Given the description of an element on the screen output the (x, y) to click on. 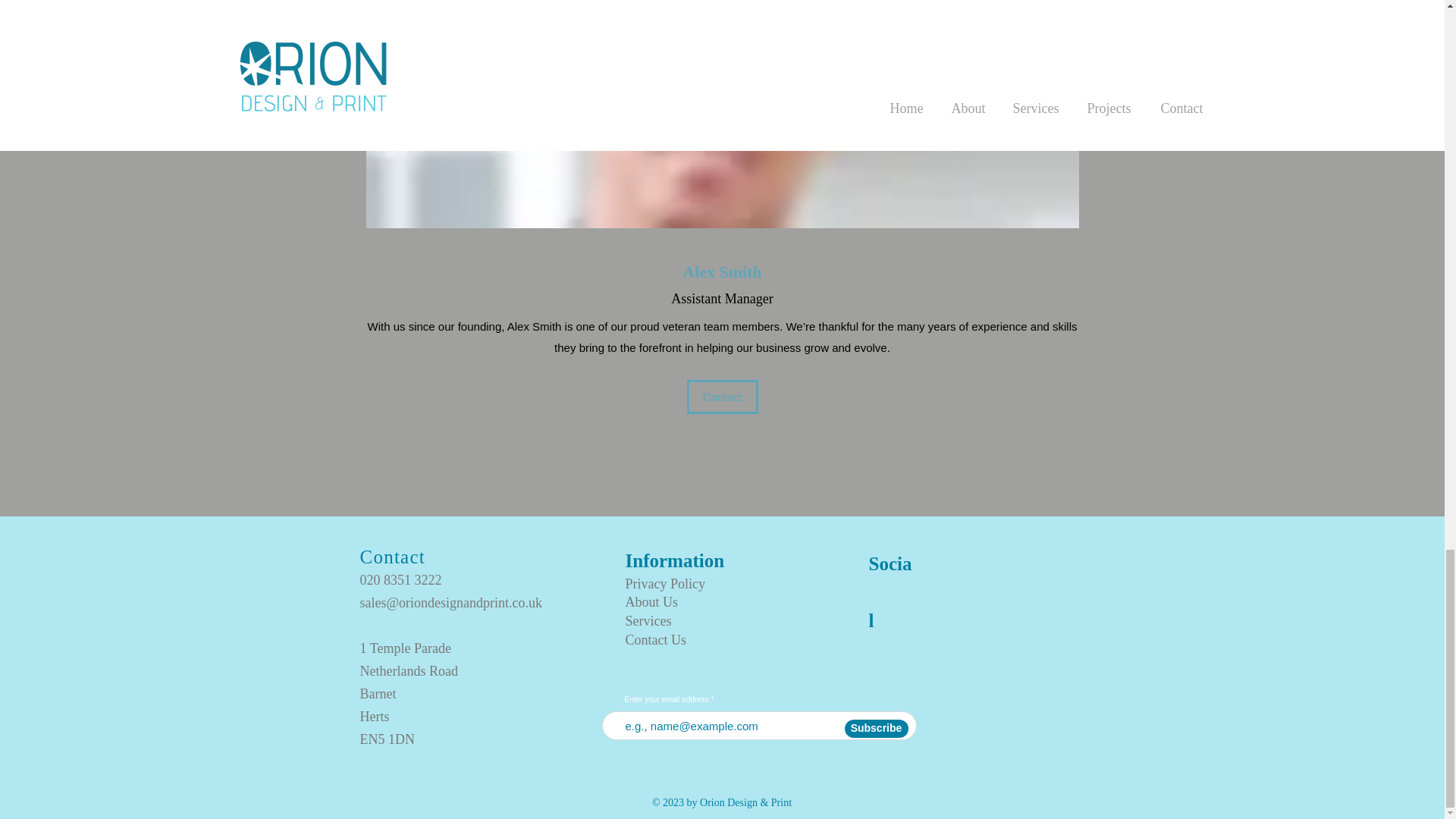
Subscribe (876, 728)
